Given the description of an element on the screen output the (x, y) to click on. 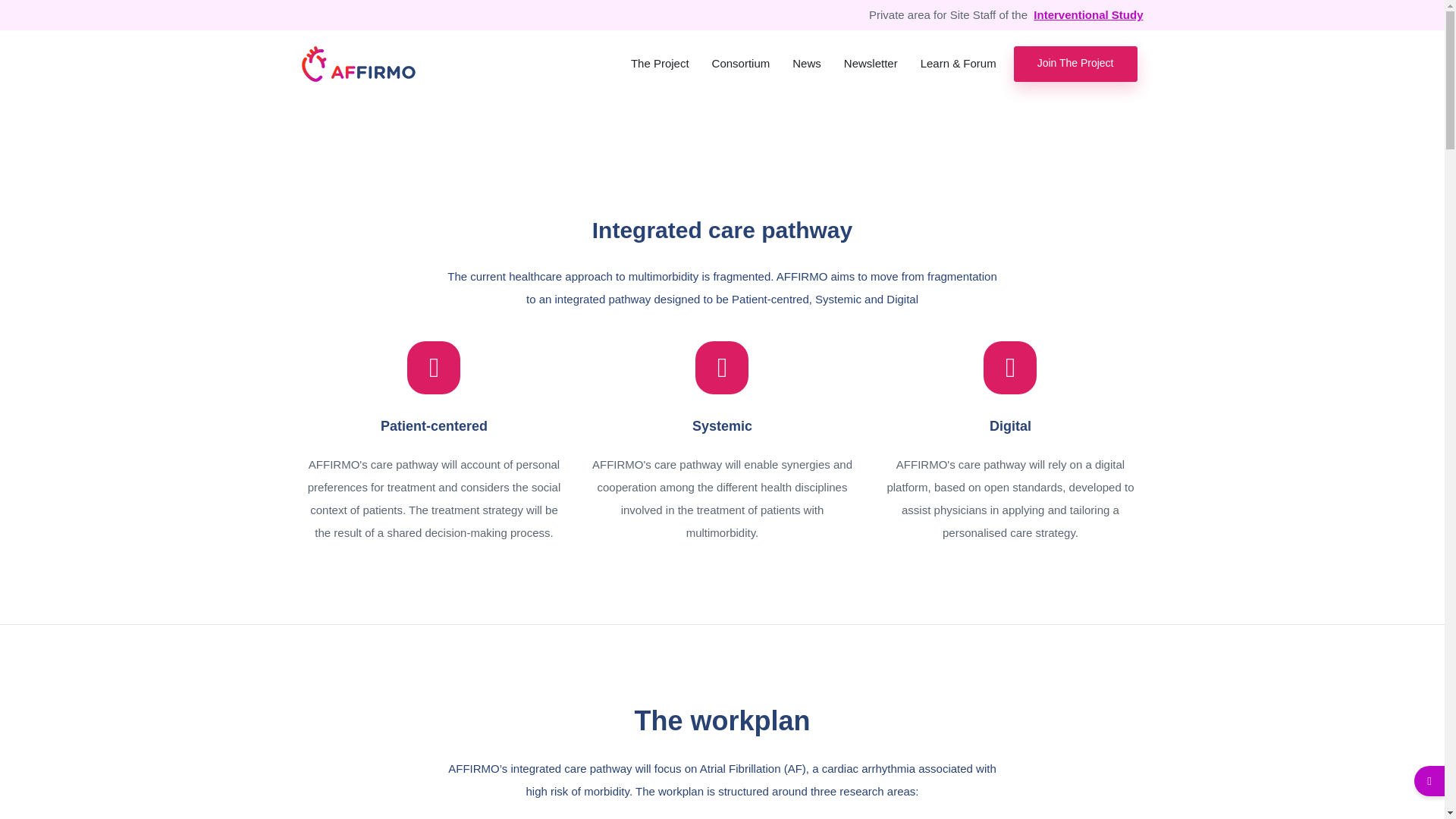
News (806, 63)
The Project (660, 63)
Consortium (740, 63)
Join The Project (1075, 63)
Interventional Study (1087, 15)
Newsletter (870, 63)
